Given the description of an element on the screen output the (x, y) to click on. 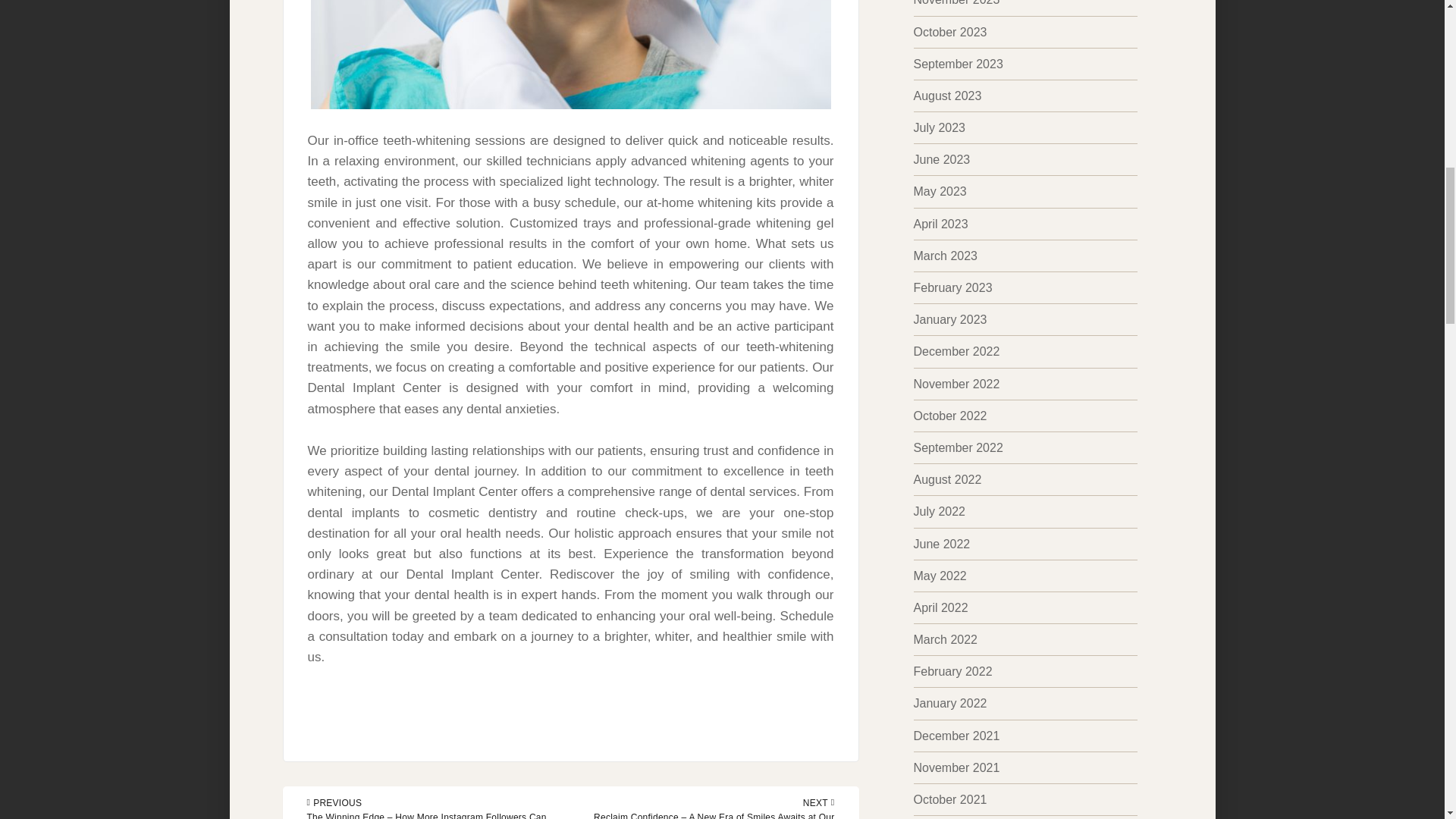
May 2023 (939, 191)
April 2023 (940, 223)
August 2023 (946, 95)
March 2023 (944, 255)
November 2023 (955, 2)
June 2023 (940, 159)
October 2023 (949, 31)
February 2023 (951, 287)
July 2023 (938, 127)
September 2023 (957, 63)
